Given the description of an element on the screen output the (x, y) to click on. 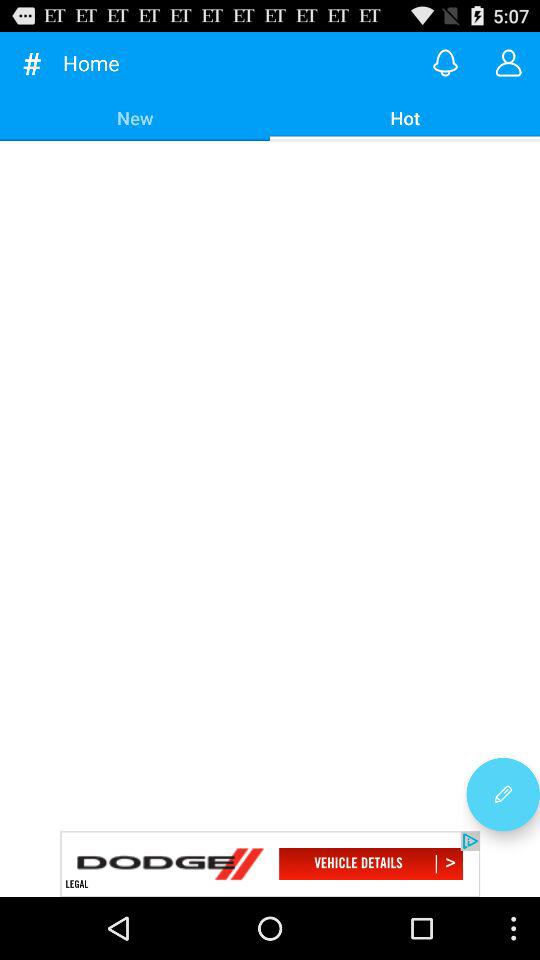
chat (508, 62)
